Given the description of an element on the screen output the (x, y) to click on. 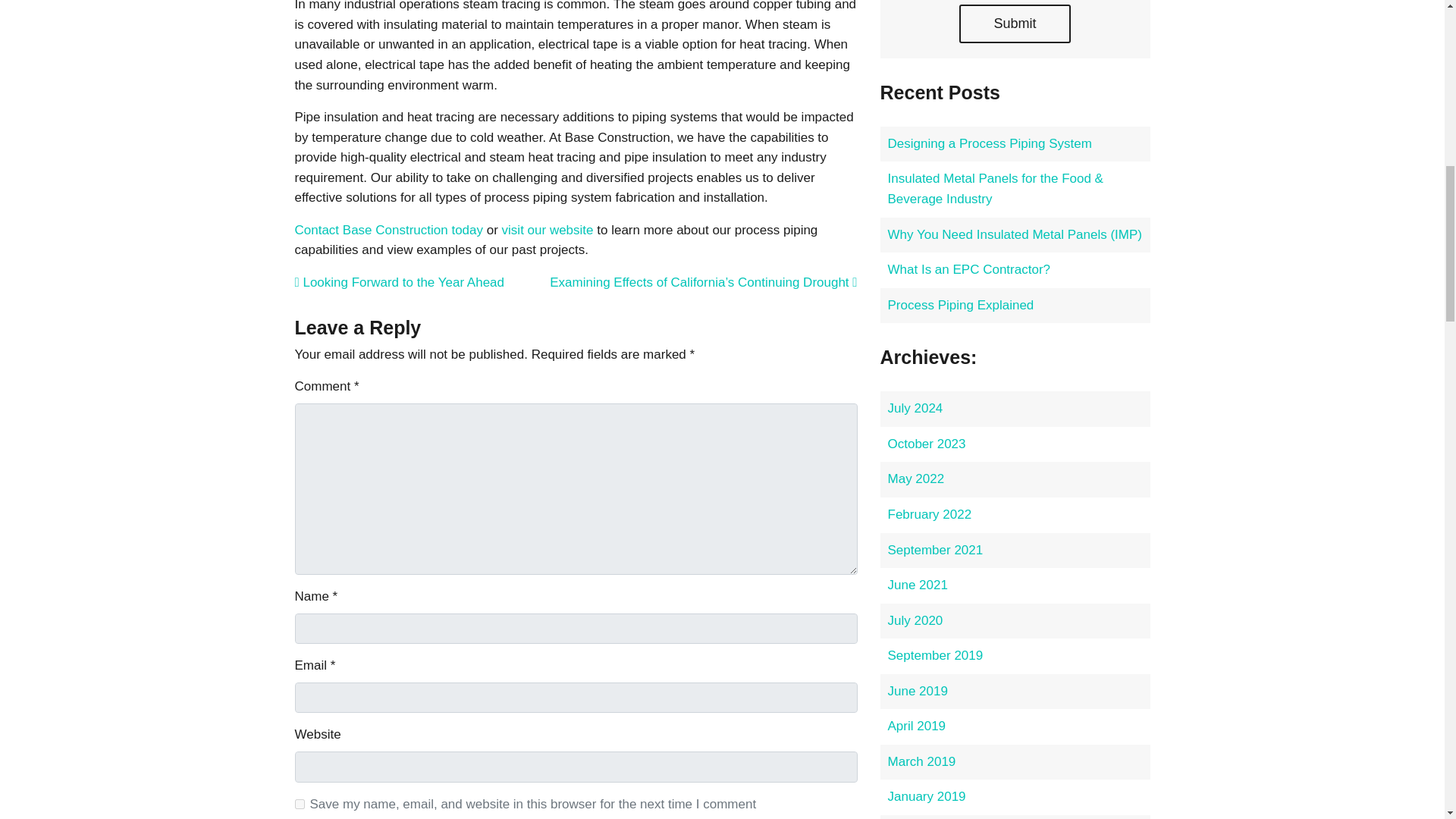
Submit (1014, 23)
yes (299, 804)
